Given the description of an element on the screen output the (x, y) to click on. 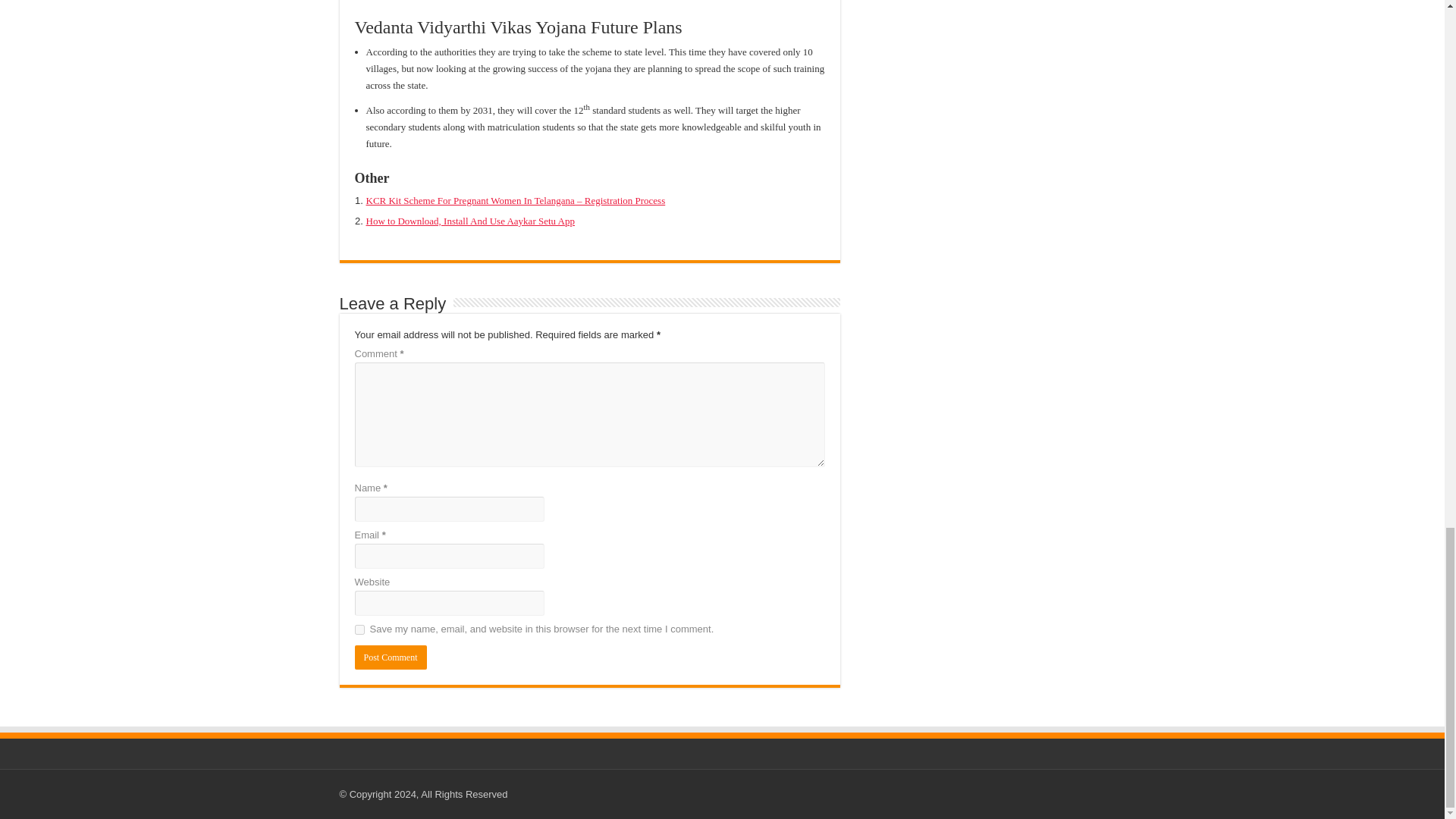
yes (360, 629)
Post Comment (390, 657)
Post Comment (390, 657)
How to Download, Install And Use Aaykar Setu App (470, 220)
